Given the description of an element on the screen output the (x, y) to click on. 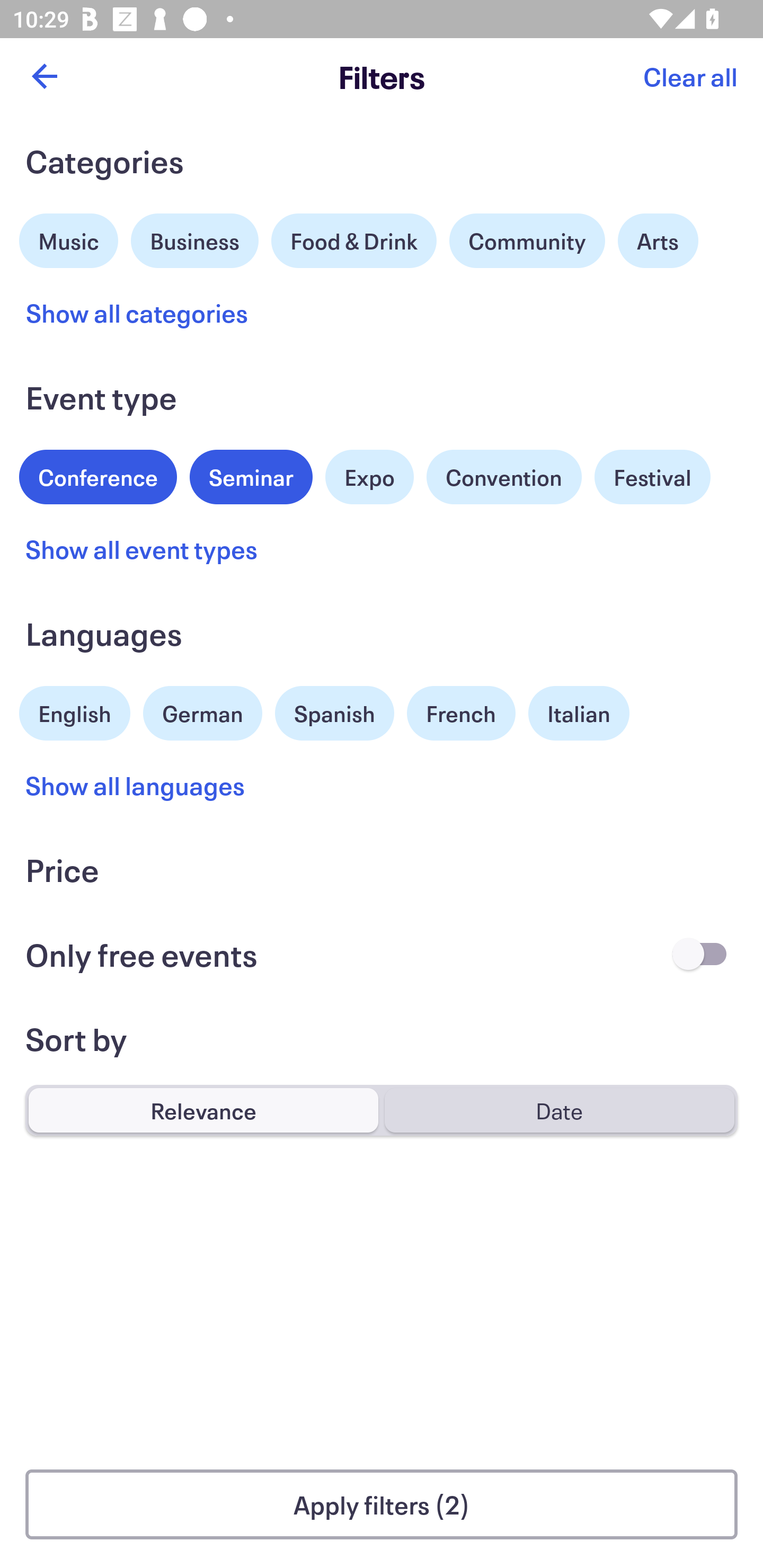
Back button (44, 75)
Clear all (690, 75)
Music (68, 238)
Business (194, 238)
Food & Drink (353, 240)
Community (527, 240)
Arts (658, 240)
Show all categories (136, 312)
Conference (98, 475)
Seminar (250, 477)
Expo (369, 477)
Convention (503, 477)
Festival (652, 477)
Show all event types (141, 548)
English (74, 710)
German (202, 710)
Spanish (334, 713)
French (460, 713)
Italian (578, 713)
Show all languages (135, 784)
Relevance (203, 1109)
Date (559, 1109)
Apply filters (2) (381, 1504)
